Given the description of an element on the screen output the (x, y) to click on. 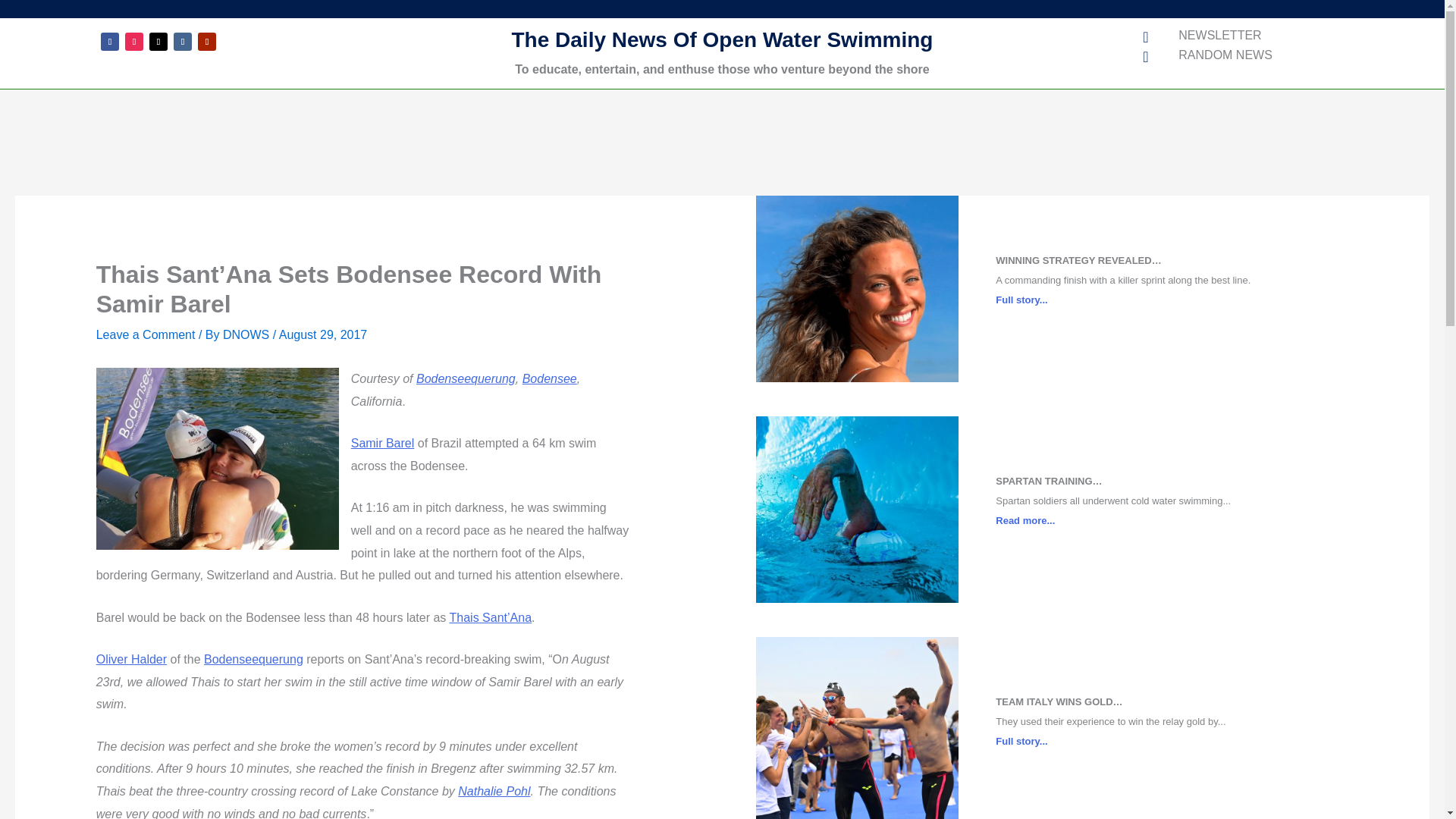
Follow on X (158, 41)
Bodensee (549, 378)
Follow on VK (182, 41)
Follow on Facebook (109, 41)
DNOWS (247, 334)
Full story... (1020, 299)
Oliver Halder (131, 658)
Bodenseequerung (252, 658)
Nathalie Pohl (493, 790)
View all posts by DNOWS (247, 334)
